Given the description of an element on the screen output the (x, y) to click on. 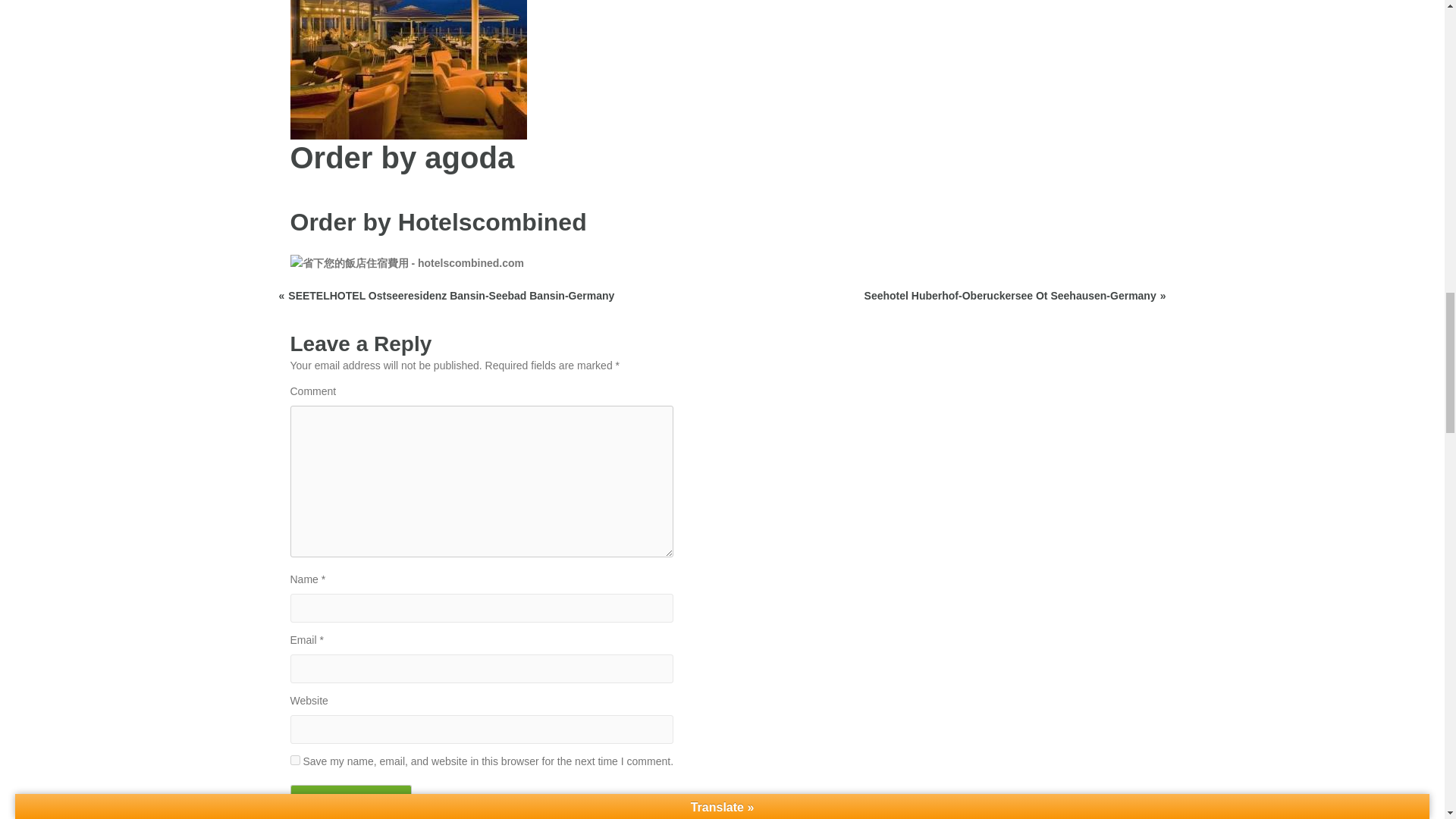
yes (294, 759)
SEETELHOTEL Ostseeresidenz Bansin-Seebad Bansin-Germany (446, 295)
Post Comment (350, 798)
Order by agoda (401, 157)
Post Comment (350, 798)
Seehotel Huberhof-Oberuckersee Ot Seehausen-Germany (1015, 295)
